Given the description of an element on the screen output the (x, y) to click on. 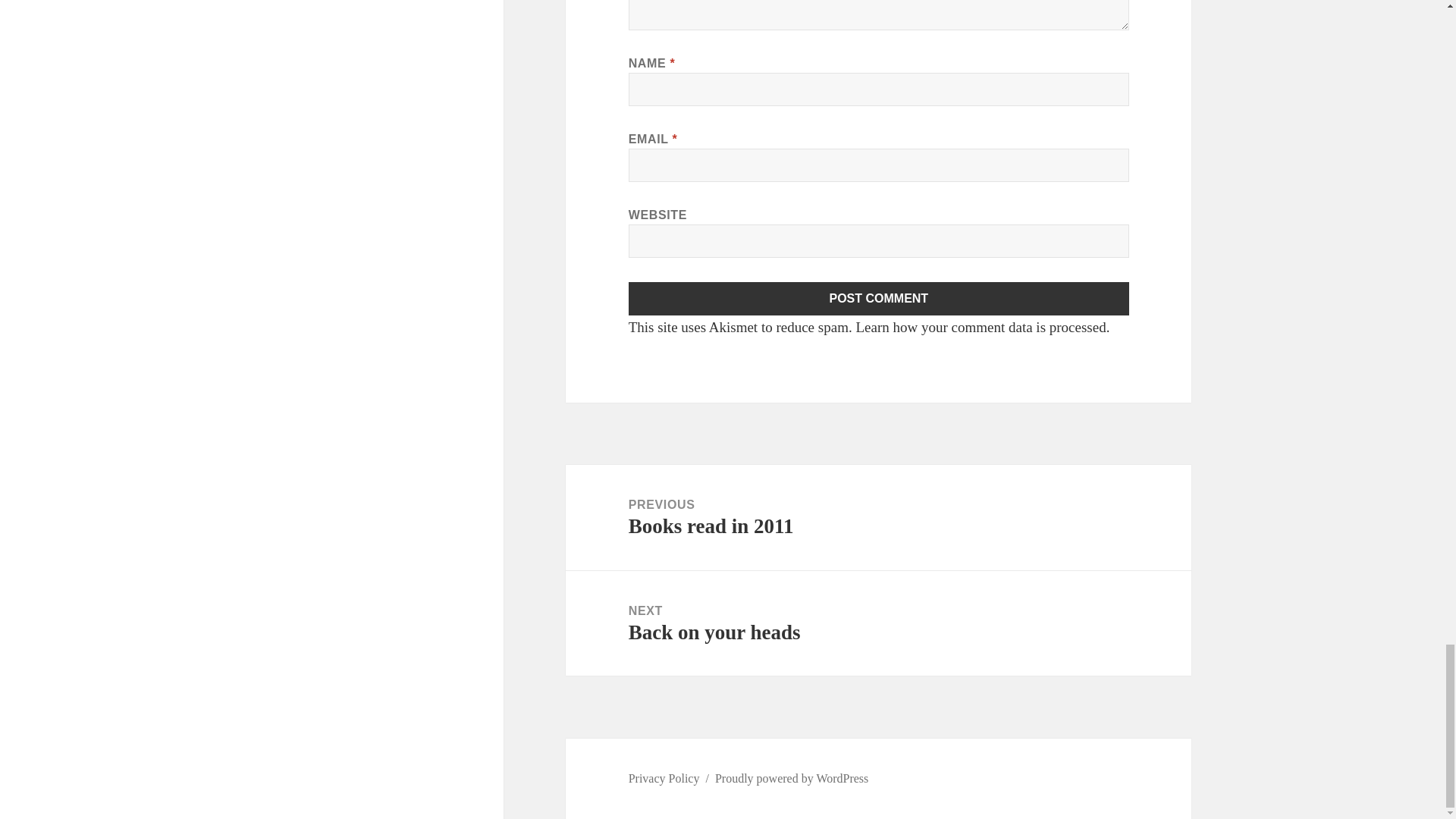
Privacy Policy (878, 623)
Post Comment (878, 517)
Post Comment (664, 778)
Learn how your comment data is processed (878, 298)
Proudly powered by WordPress (878, 298)
